Given the description of an element on the screen output the (x, y) to click on. 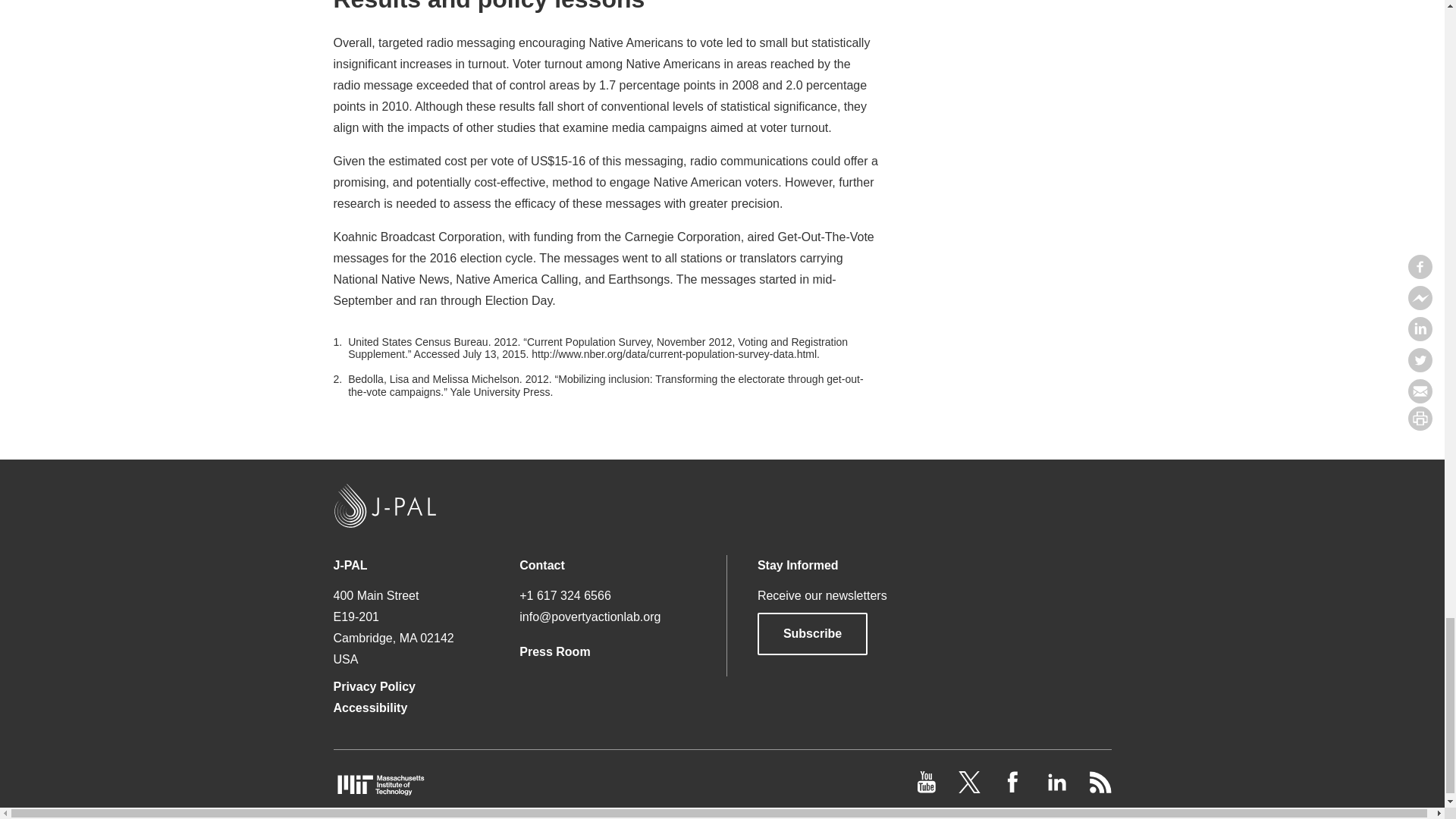
LinkedIn (1057, 788)
facebook (1015, 788)
twitter (971, 788)
youtube (927, 788)
